Given the description of an element on the screen output the (x, y) to click on. 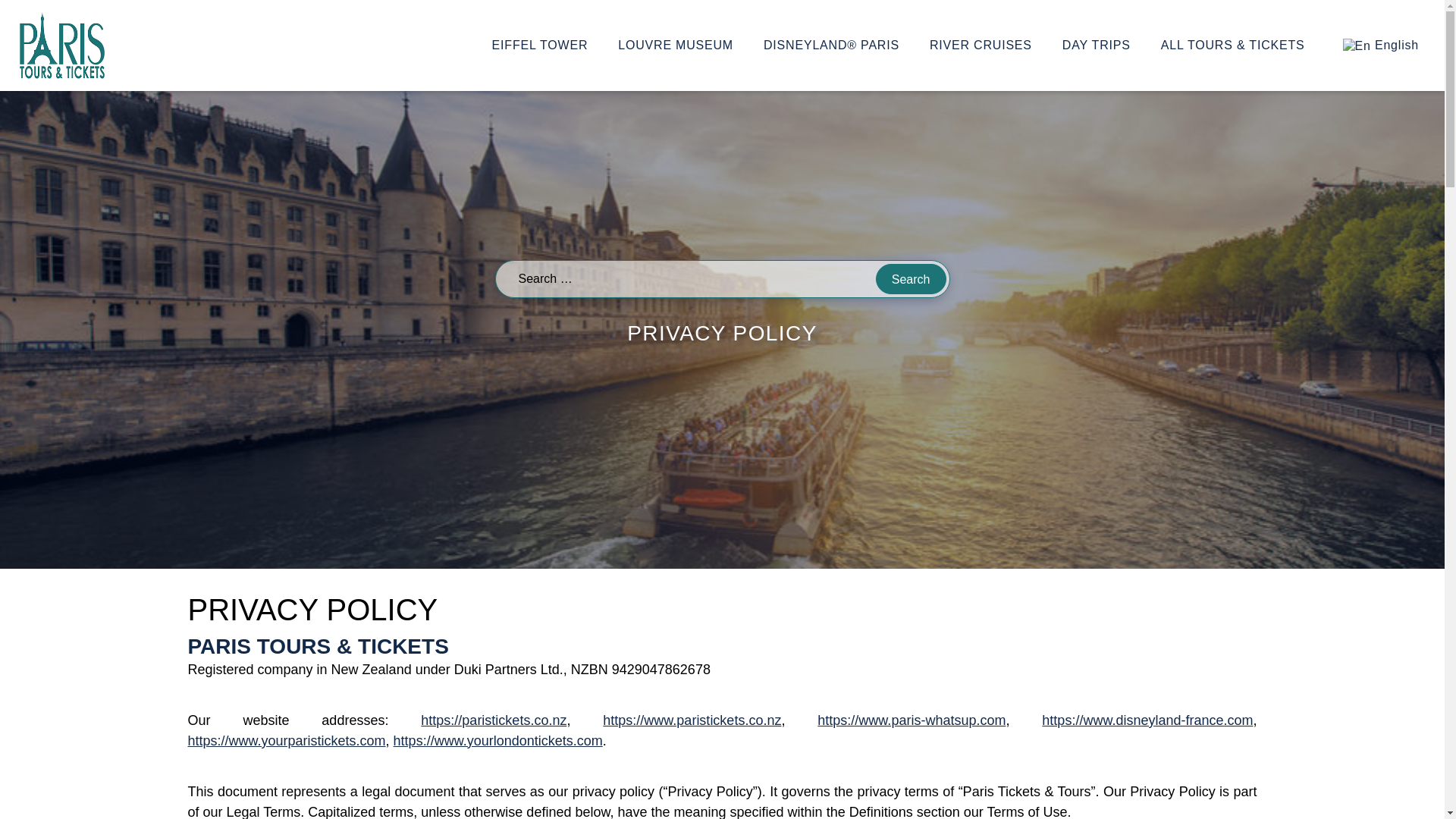
DAY TRIPS (1096, 44)
LOUVRE MUSEUM (675, 44)
English (1380, 45)
Search (911, 278)
RIVER CRUISES (981, 44)
EIFFEL TOWER (540, 44)
Search (911, 278)
